Given the description of an element on the screen output the (x, y) to click on. 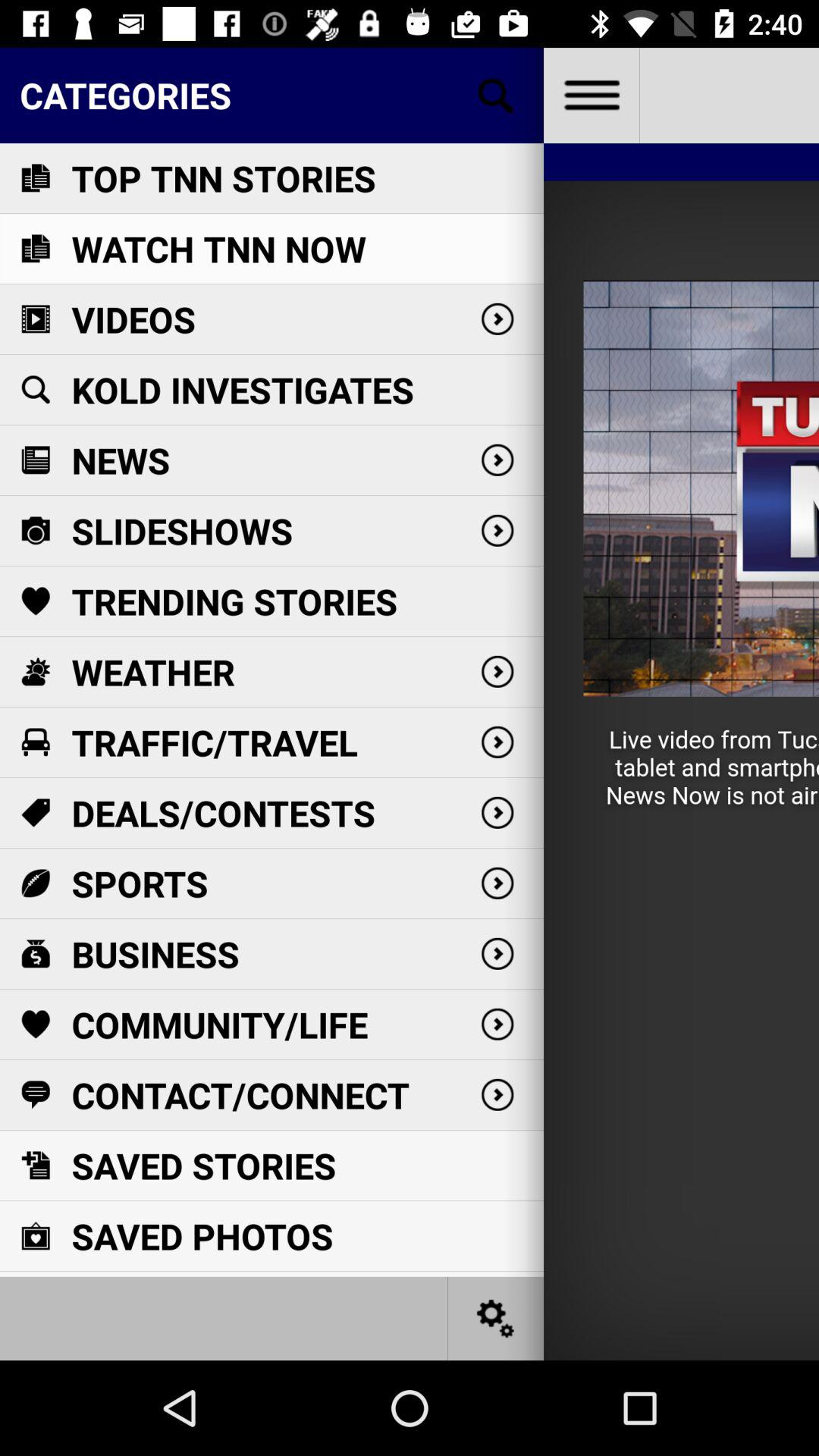
select the 4th icon (35, 390)
click on news icon (35, 460)
click the last right scroll icon (497, 1094)
click the fifth right scroll icon (497, 742)
select the icon below the weather (35, 742)
click the icon of the contactconnect (35, 1094)
click the saved photos icon (35, 1236)
select the arrow icon which is next to videos (497, 318)
select the 2nd icon from the bottom of the list (35, 1165)
click on the arrow icon which is next to slideshows (497, 531)
